Given the description of an element on the screen output the (x, y) to click on. 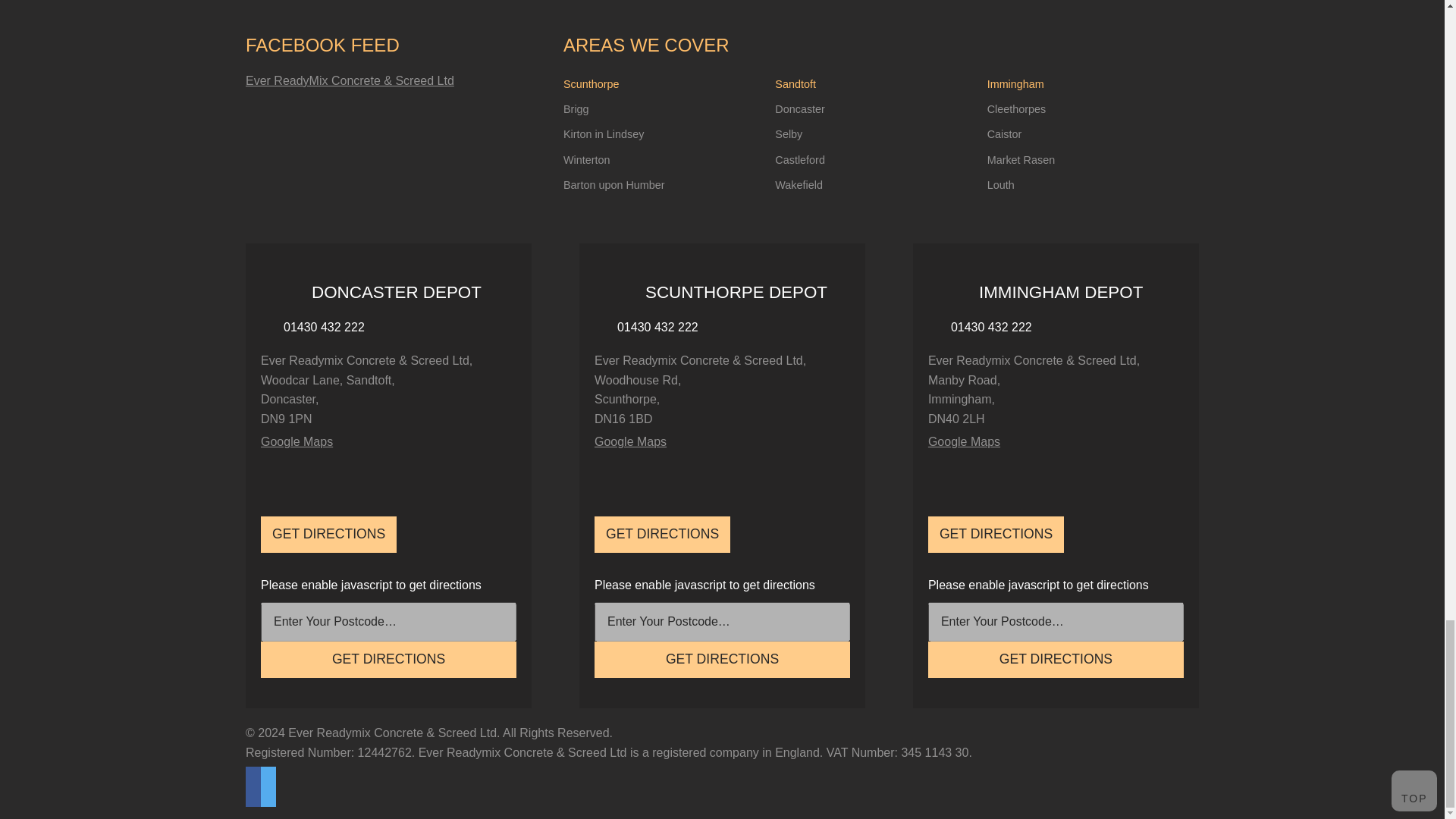
Get Directions (722, 659)
Get Directions (388, 659)
Get Directions (1055, 659)
